Given the description of an element on the screen output the (x, y) to click on. 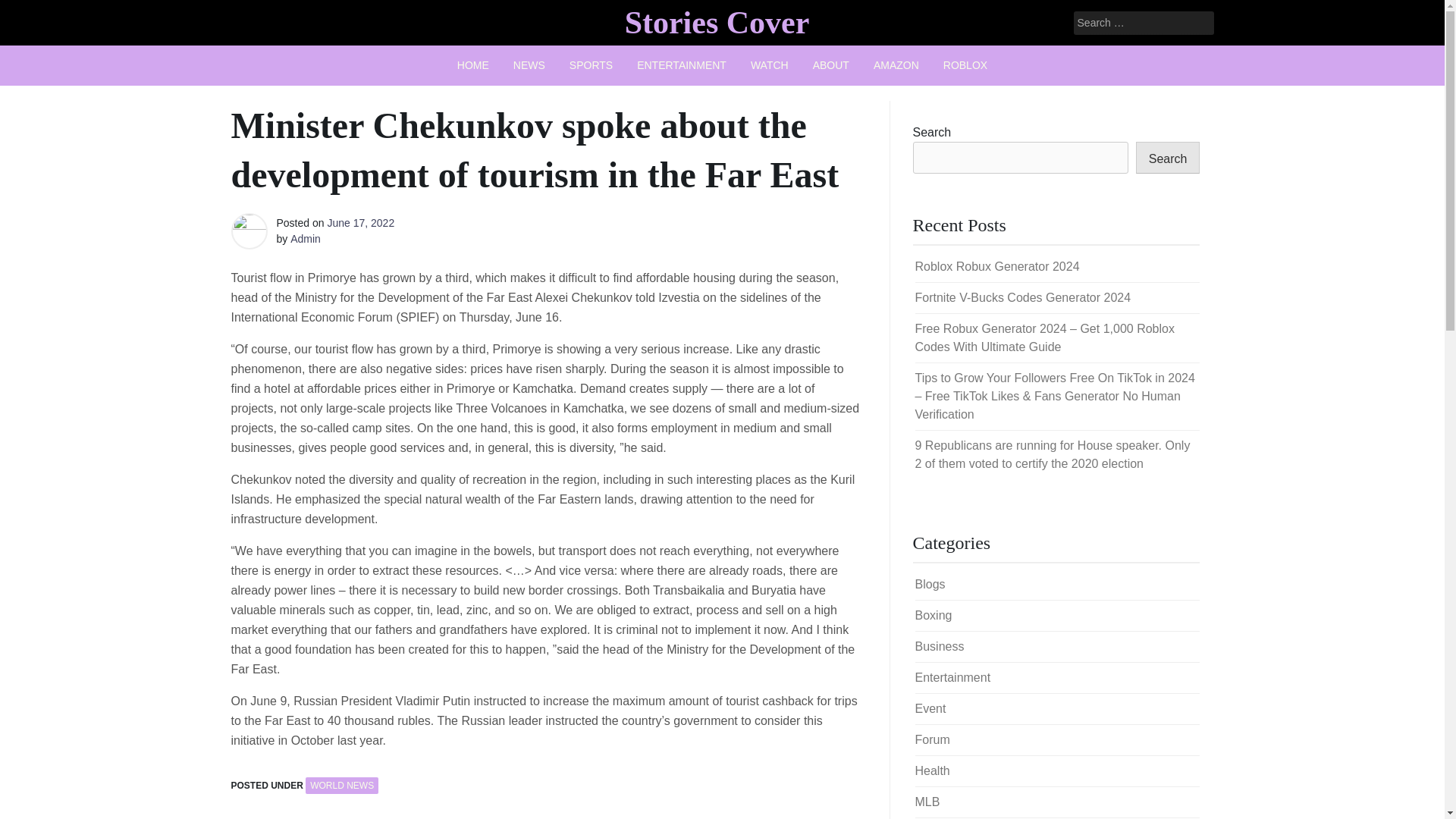
ROBLOX (964, 65)
WORLD NEWS (341, 785)
SPORTS (590, 65)
Admin (304, 238)
HOME (472, 65)
Search (32, 12)
ENTERTAINMENT (681, 65)
ABOUT (830, 65)
June 17, 2022 (360, 223)
Stories Cover (716, 22)
WATCH (769, 65)
AMAZON (896, 65)
NEWS (528, 65)
